Given the description of an element on the screen output the (x, y) to click on. 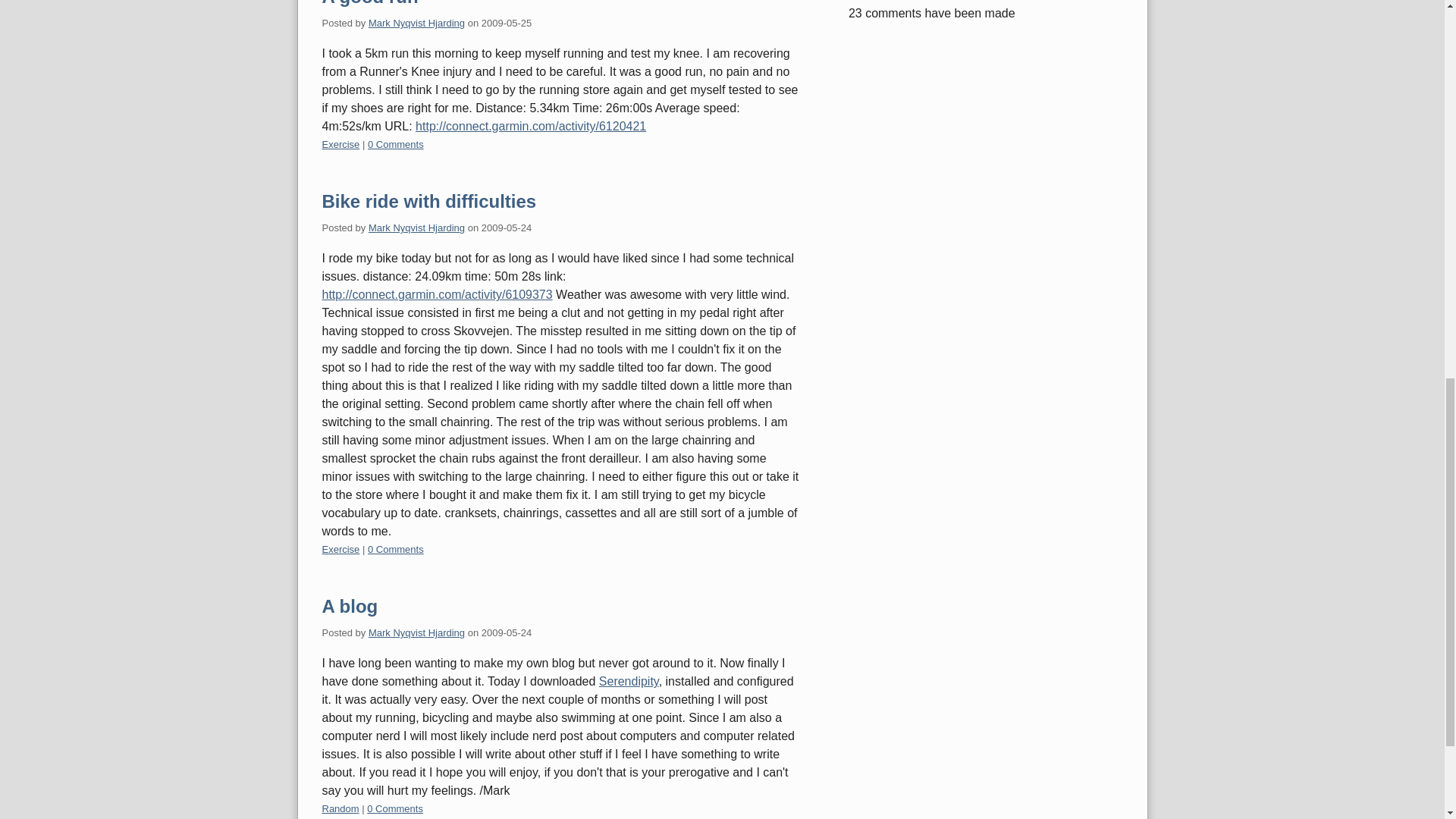
A blog (349, 606)
Random (339, 808)
0 Comments (394, 808)
0 Comments, 0 Trackbacks (395, 143)
Mark Nyqvist Hjarding (416, 22)
Exercise (340, 549)
A good run (369, 3)
0 Comments, 0 Trackbacks (394, 808)
Bike ride with difficulties (428, 200)
0 Comments (395, 143)
